Given the description of an element on the screen output the (x, y) to click on. 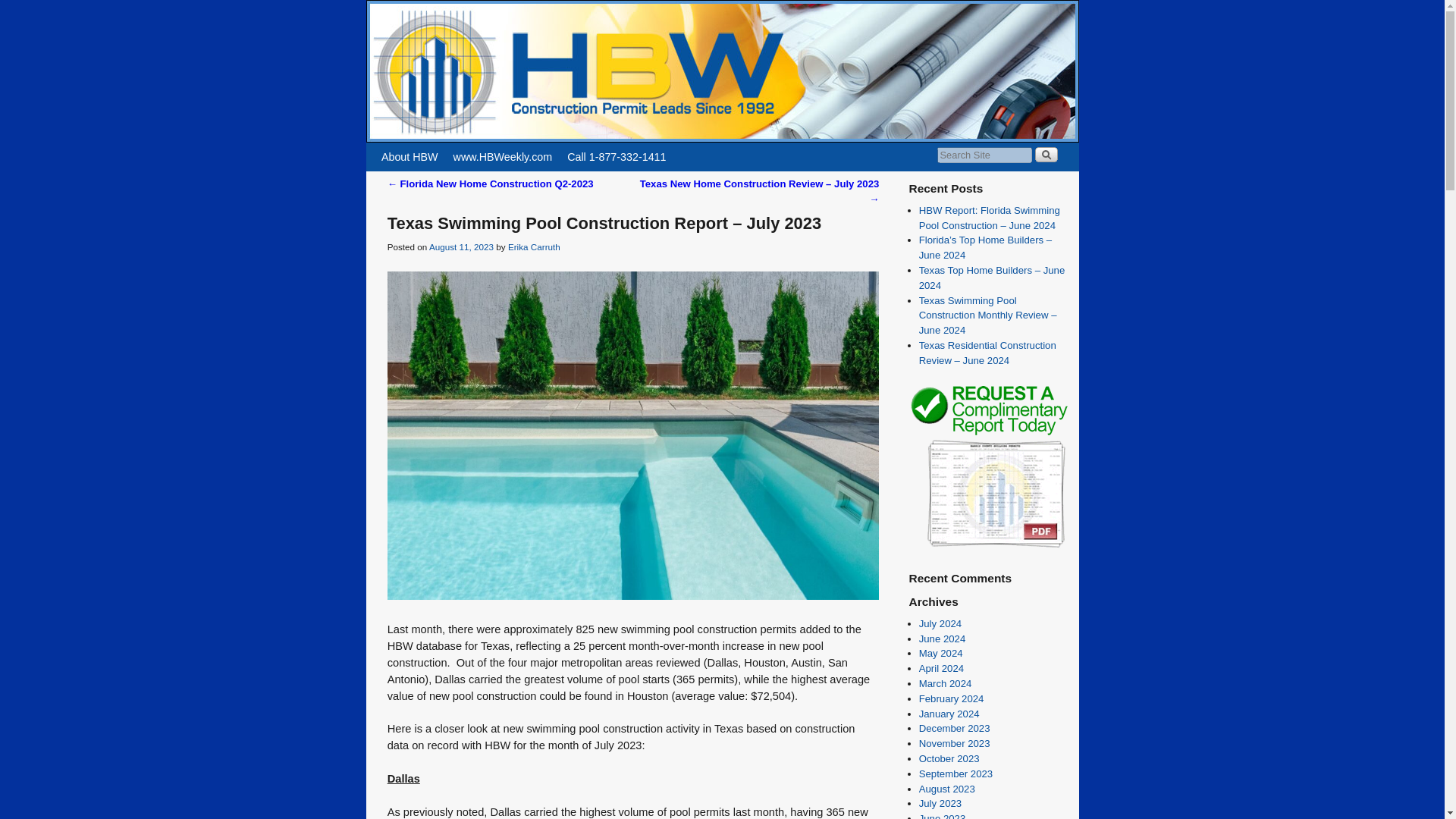
Erika Carruth (534, 246)
Skip to primary content (408, 148)
Skip to secondary content (413, 148)
www.HBWeekly.com (502, 156)
August 11, 2023 (461, 246)
About HBW (409, 156)
View all posts by Erika Carruth (534, 246)
Call 1-877-332-1411 (615, 156)
Get a Complimentary Report of Construction Permits (987, 546)
7:34 pm (461, 246)
